Given the description of an element on the screen output the (x, y) to click on. 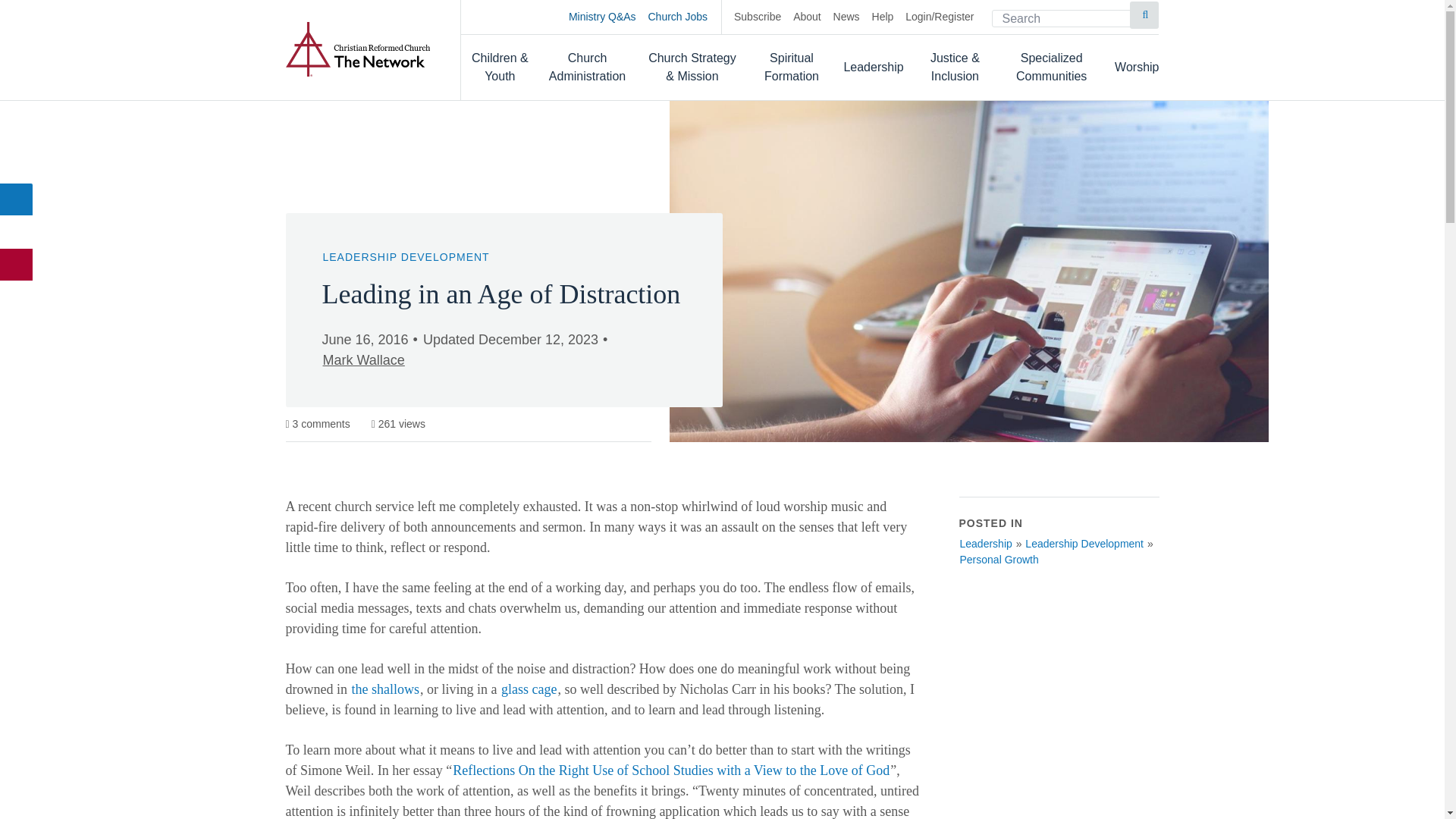
the shallows (385, 688)
glass cage (528, 688)
Submit (1143, 14)
Spiritual Formation (791, 67)
Church Jobs (684, 17)
Mark Wallace (362, 360)
Submit (1143, 14)
Share to Email (16, 264)
Subscribe (756, 17)
Specialized Communities (1051, 67)
LEADERSHIP DEVELOPMENT (405, 256)
Share to X (16, 231)
View user profile. (362, 360)
